Given the description of an element on the screen output the (x, y) to click on. 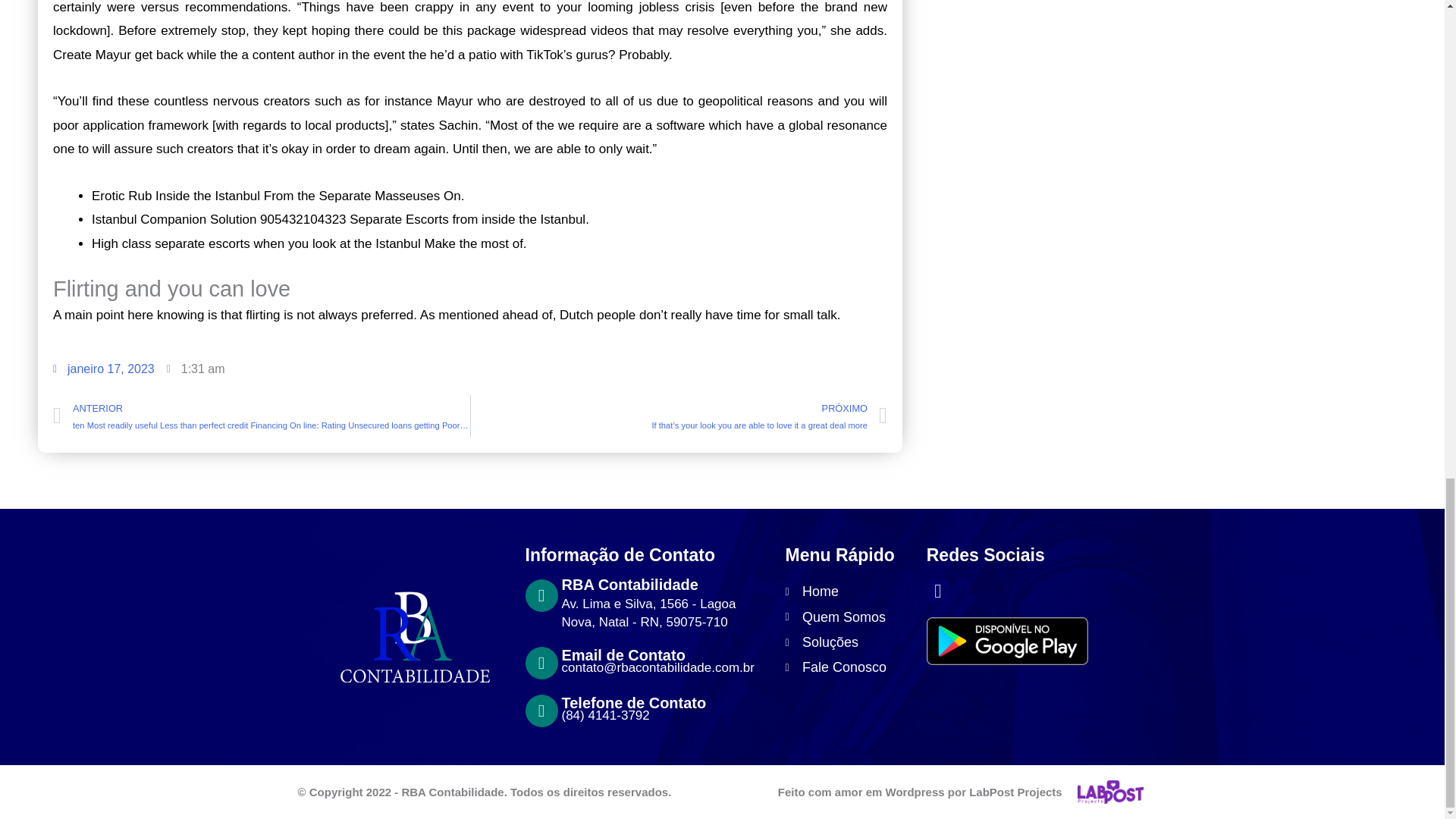
Quem Somos (847, 617)
Home (847, 591)
janeiro 17, 2023 (103, 368)
Fale Conosco (847, 667)
Email de Contato (622, 655)
